Given the description of an element on the screen output the (x, y) to click on. 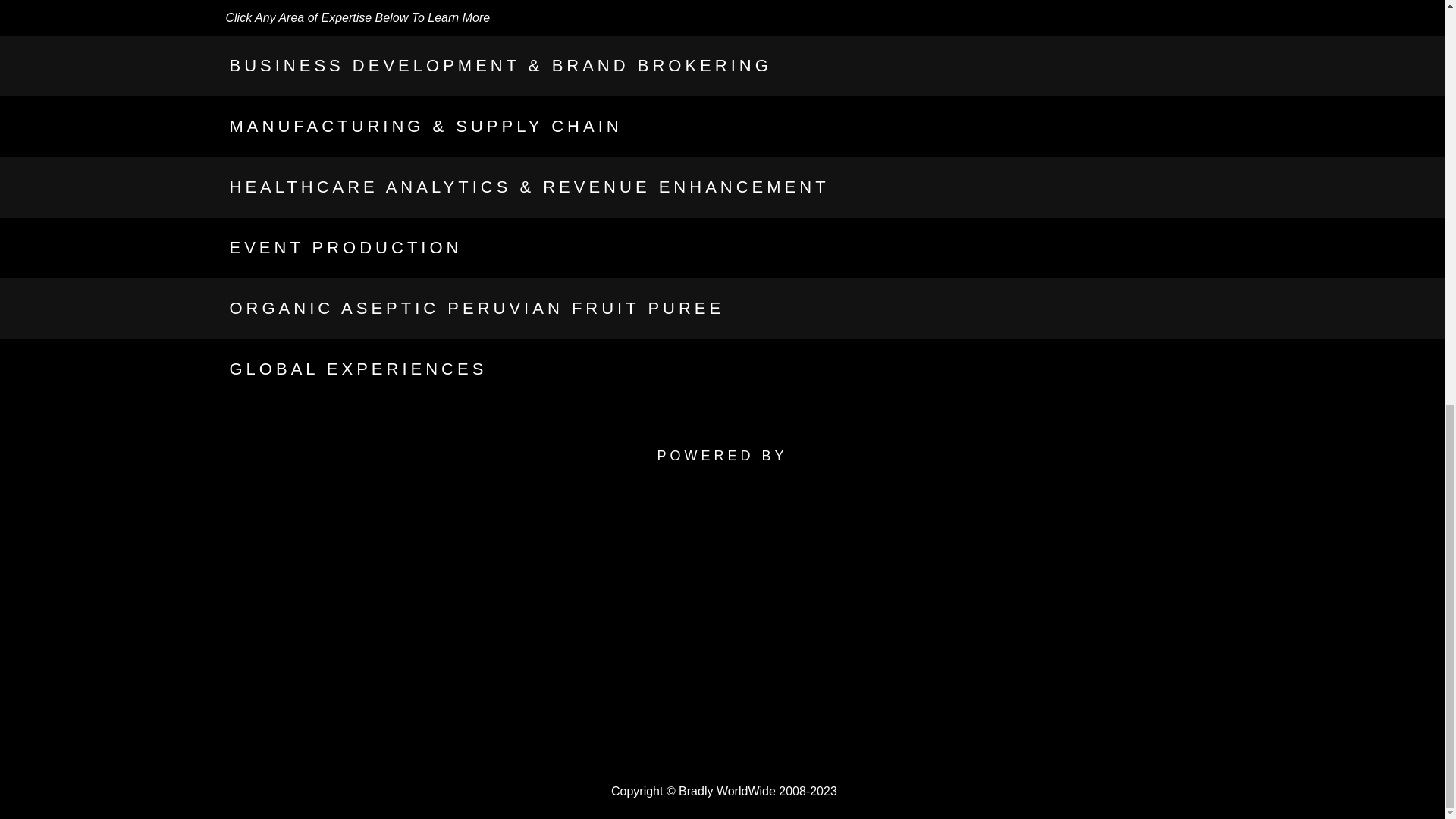
EVENT PRODUCTION (344, 247)
GLOBAL EXPERIENCES (357, 368)
ORGANIC ASEPTIC PERUVIAN FRUIT PUREE (475, 307)
